Given the description of an element on the screen output the (x, y) to click on. 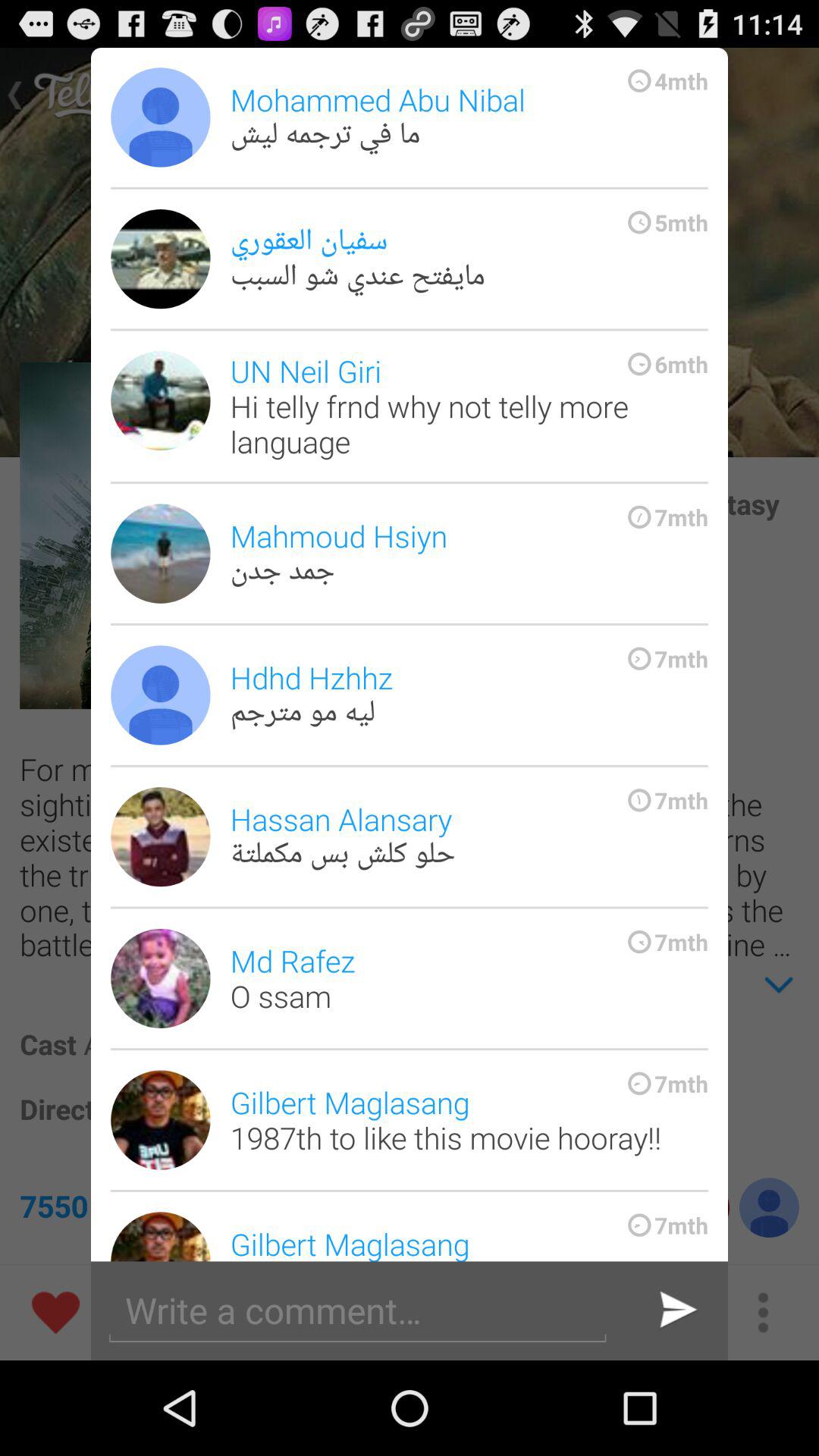
turn off the item at the bottom right corner (676, 1310)
